Given the description of an element on the screen output the (x, y) to click on. 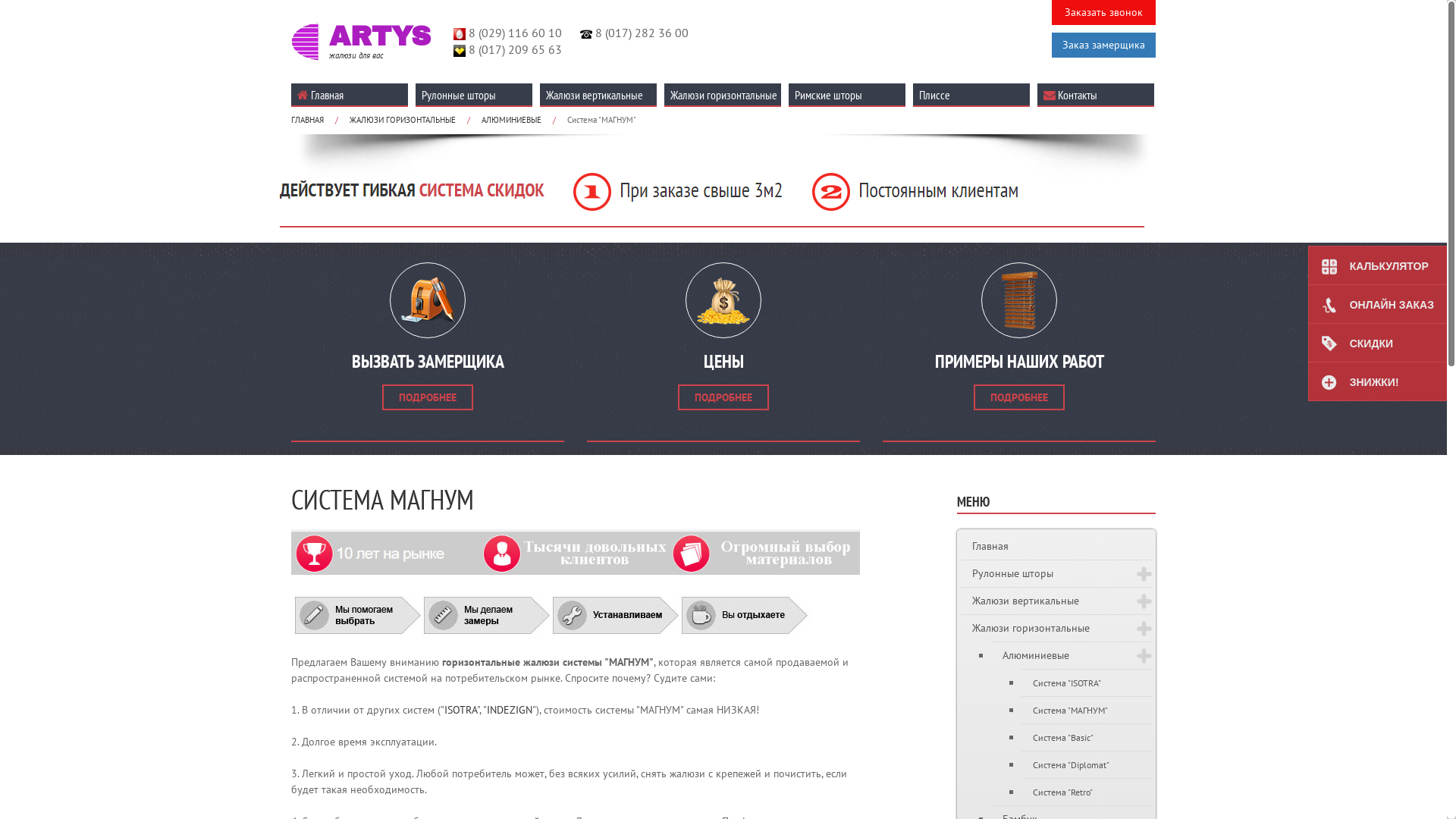
INDEZIGN Element type: text (509, 709)
ISOTRA Element type: text (460, 709)
